Given the description of an element on the screen output the (x, y) to click on. 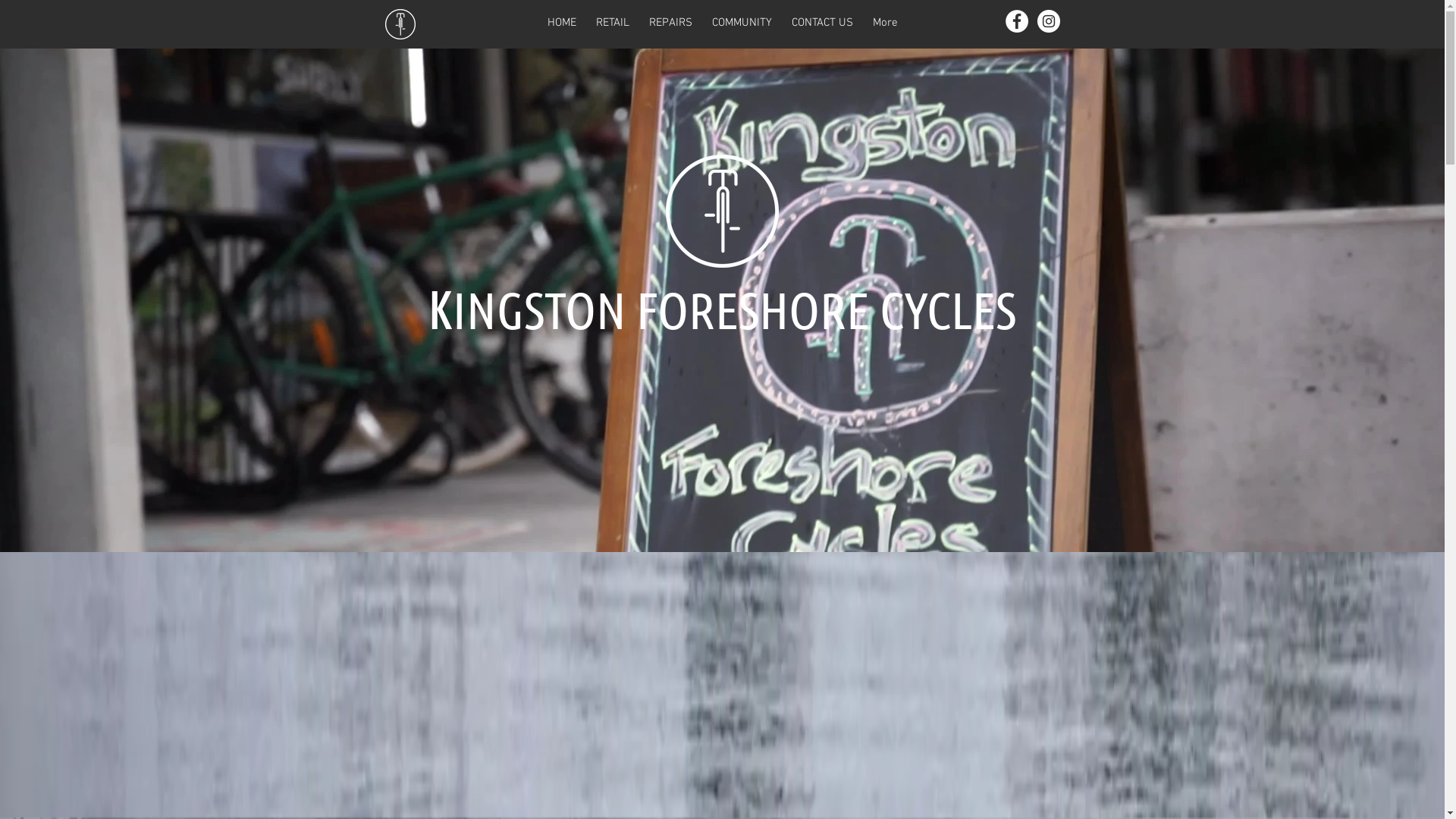
COMMUNITY Element type: text (741, 23)
RETAIL Element type: text (611, 23)
HOME Element type: text (560, 23)
CONTACT US Element type: text (821, 23)
REPAIRS Element type: text (669, 23)
